Given the description of an element on the screen output the (x, y) to click on. 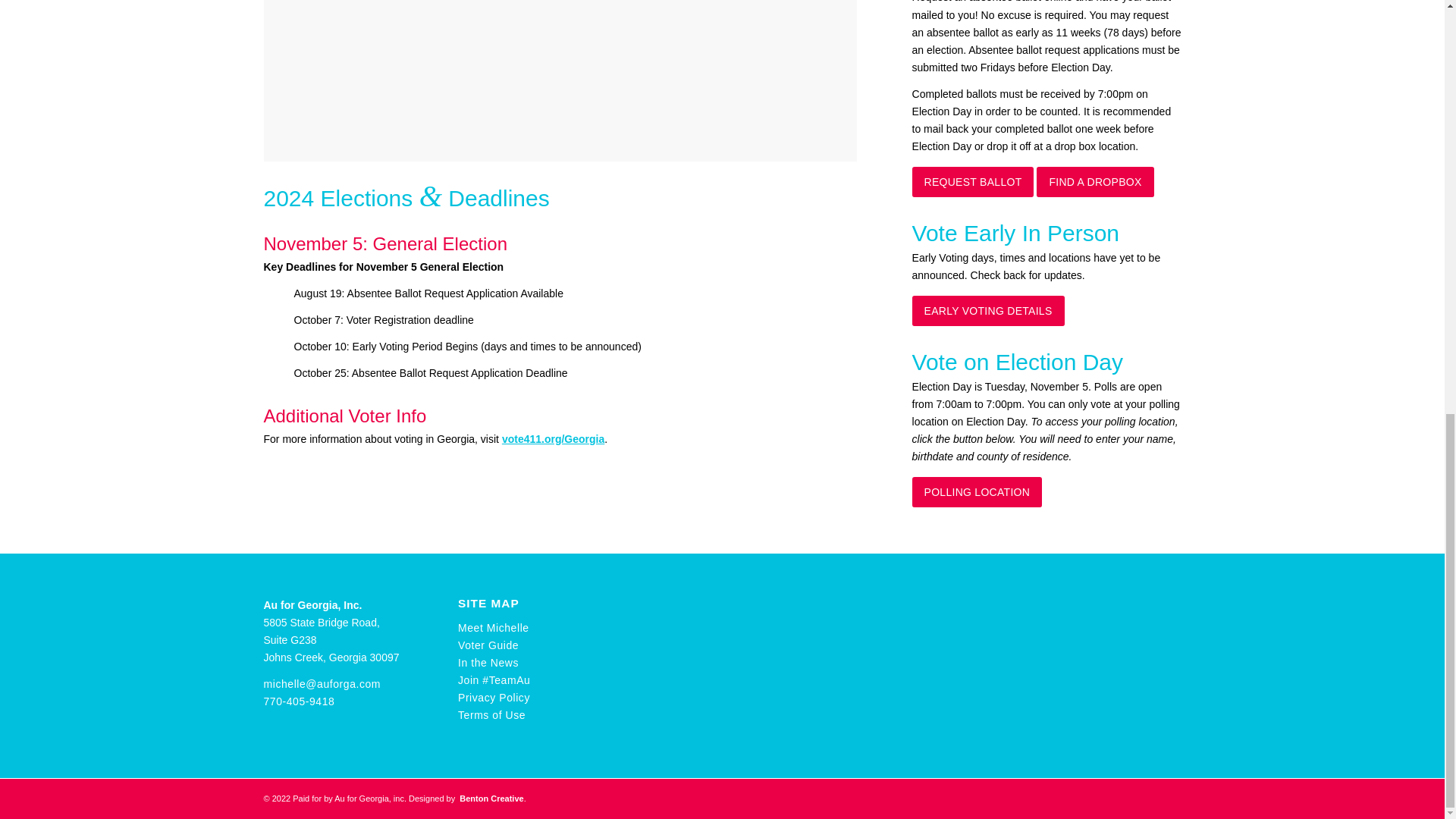
770-405-9418 (298, 701)
Privacy Policy (493, 697)
Meet Michelle (493, 627)
In the News (488, 662)
POLLING LOCATION (977, 491)
EARLY VOTING DETAILS (988, 310)
REQUEST BALLOT (972, 182)
Voter Guide (488, 645)
2023 House District 50 (560, 80)
FIND A DROPBOX (1094, 182)
